Given the description of an element on the screen output the (x, y) to click on. 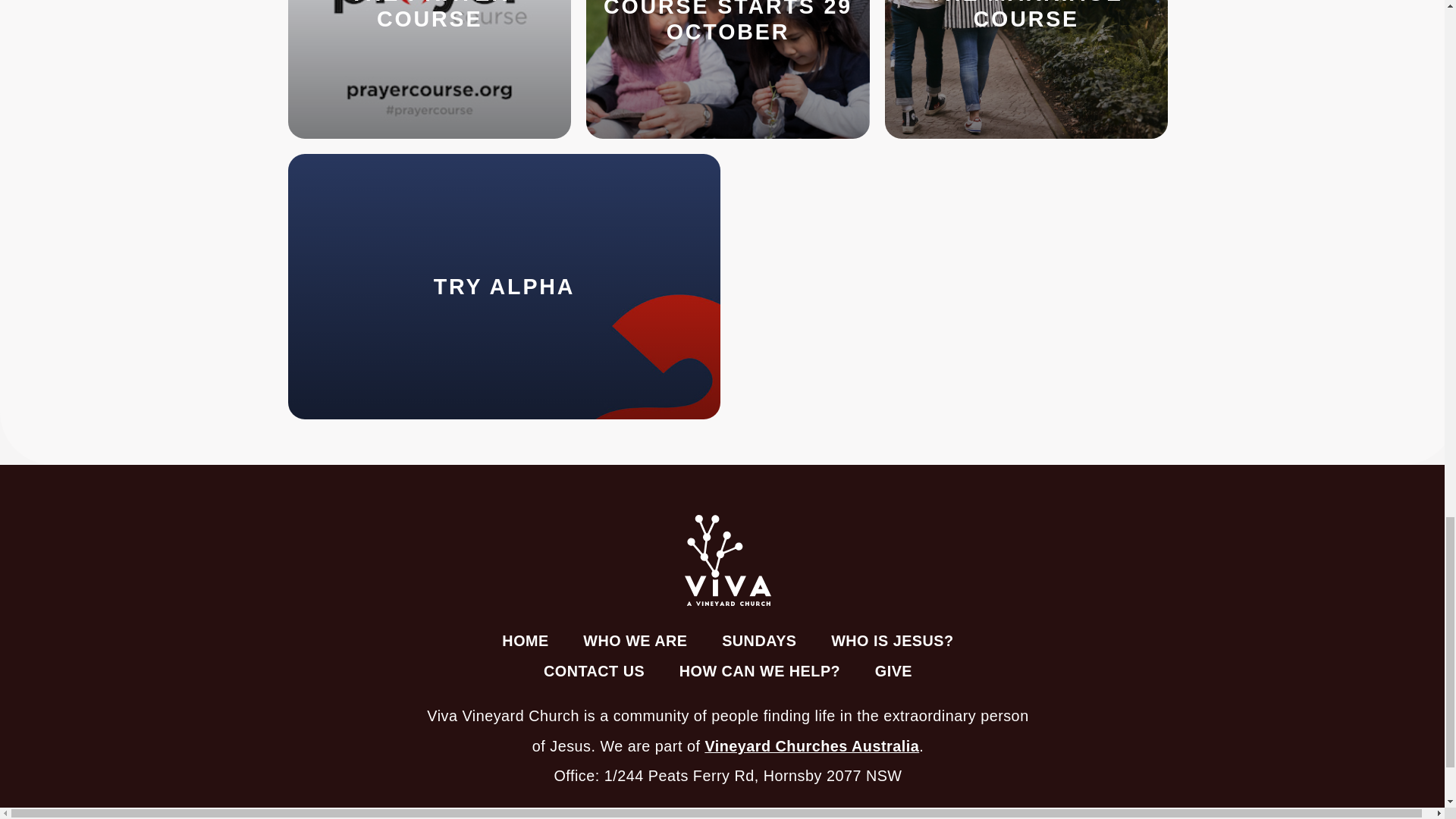
HOME (525, 640)
TRY ALPHA (504, 286)
PRIVACY POLICY (692, 815)
WHO IS JESUS? (891, 640)
GIVE (893, 670)
CONTACT US (593, 670)
SUNDAYS (758, 640)
Vineyard Churches Australia (811, 745)
THE PARENTING COURSE STARTS 29 OCTOBER (727, 69)
THE PRAYER COURSE (429, 69)
WHO WE ARE (636, 640)
HOW CAN WE HELP? (759, 670)
THE MARRIAGE COURSE (1026, 69)
